Given the description of an element on the screen output the (x, y) to click on. 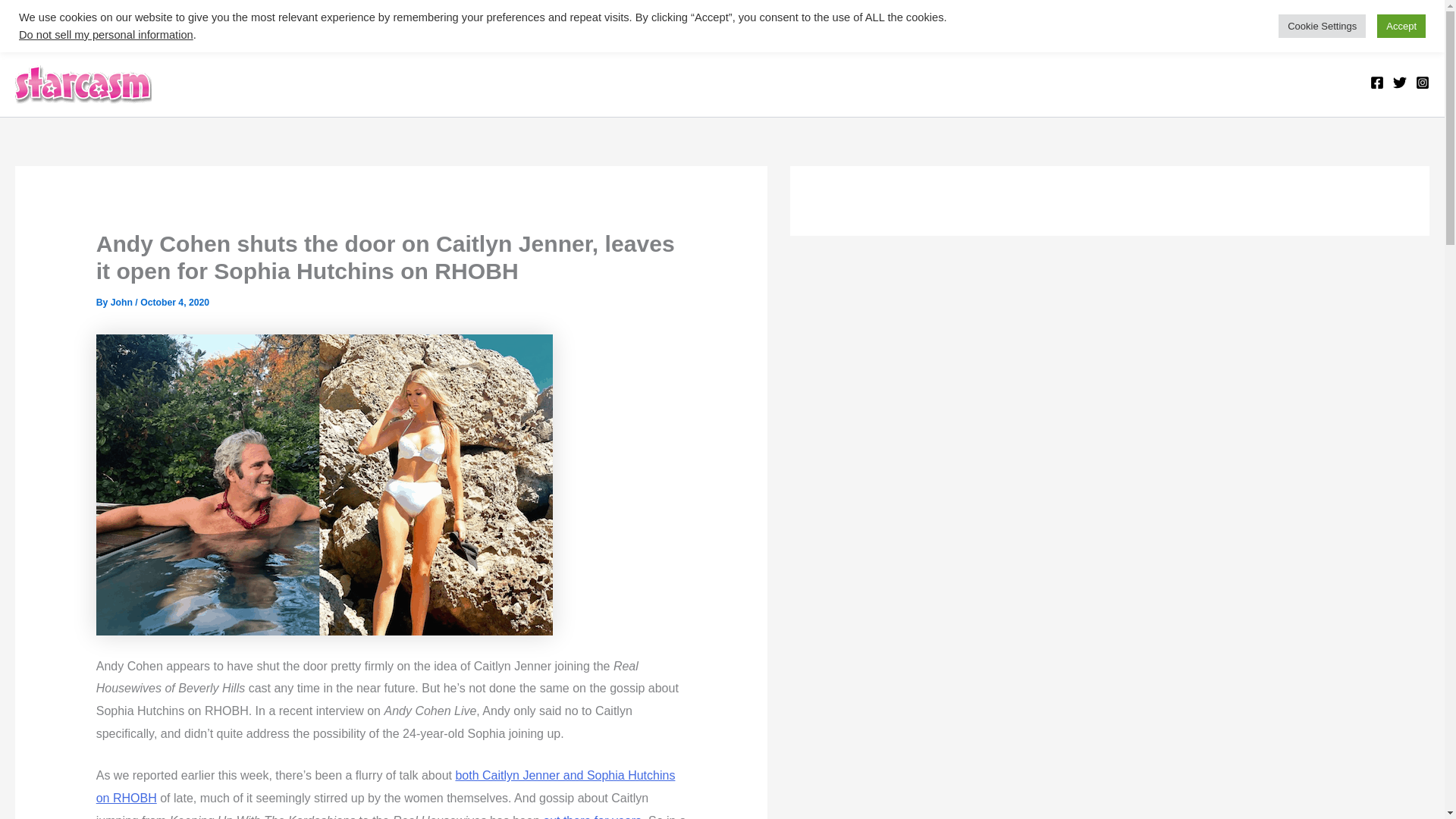
both Caitlyn Jenner and Sophia Hutchins on RHOBH (385, 786)
TOP CATEGORIES (87, 22)
out there for years (592, 816)
Home (188, 22)
John (122, 302)
Search Button (1415, 31)
View all posts by John (122, 302)
